Given the description of an element on the screen output the (x, y) to click on. 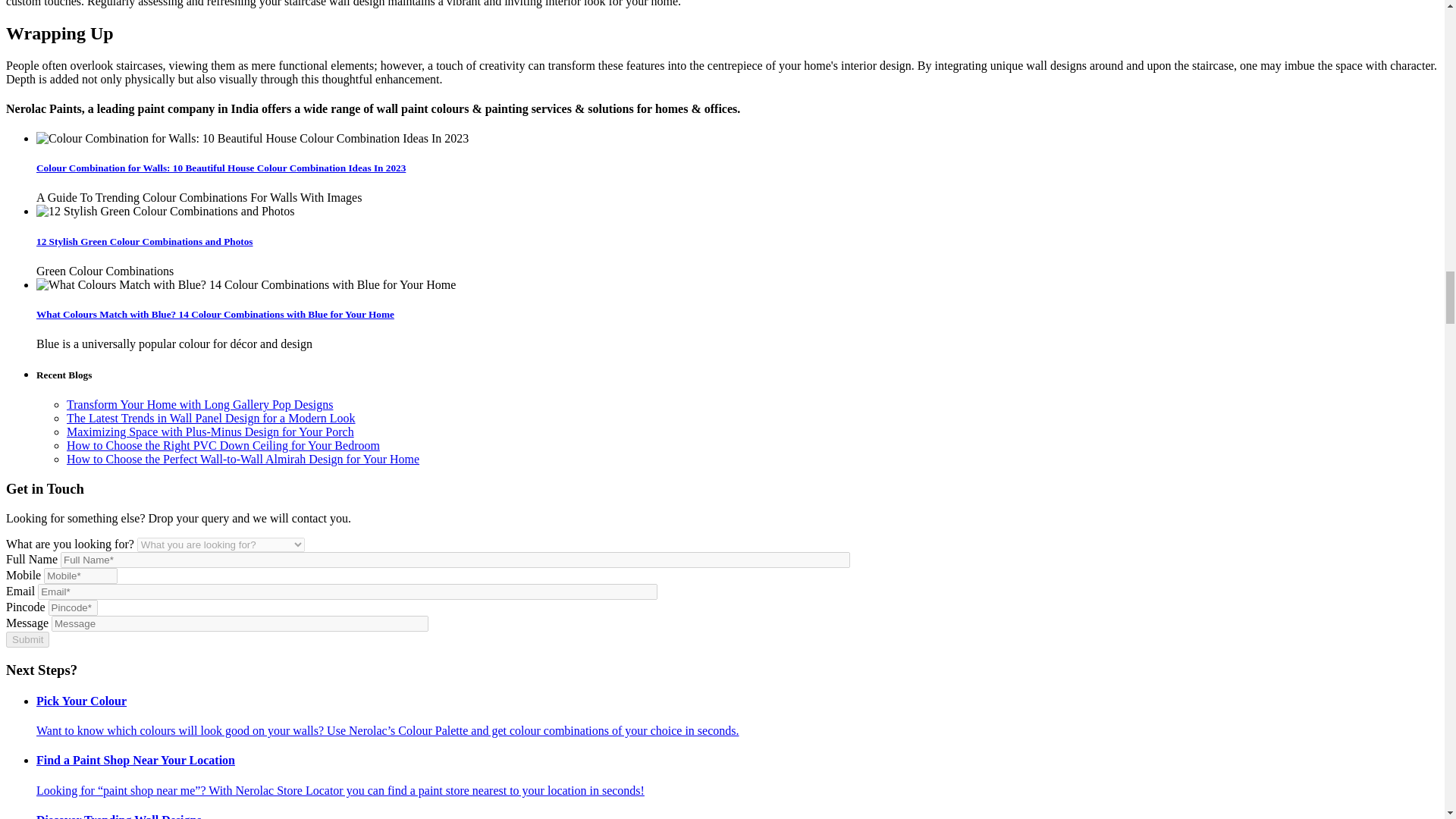
Submit (27, 639)
12 Stylish Green Colour Combinations and Photos (165, 211)
